Given the description of an element on the screen output the (x, y) to click on. 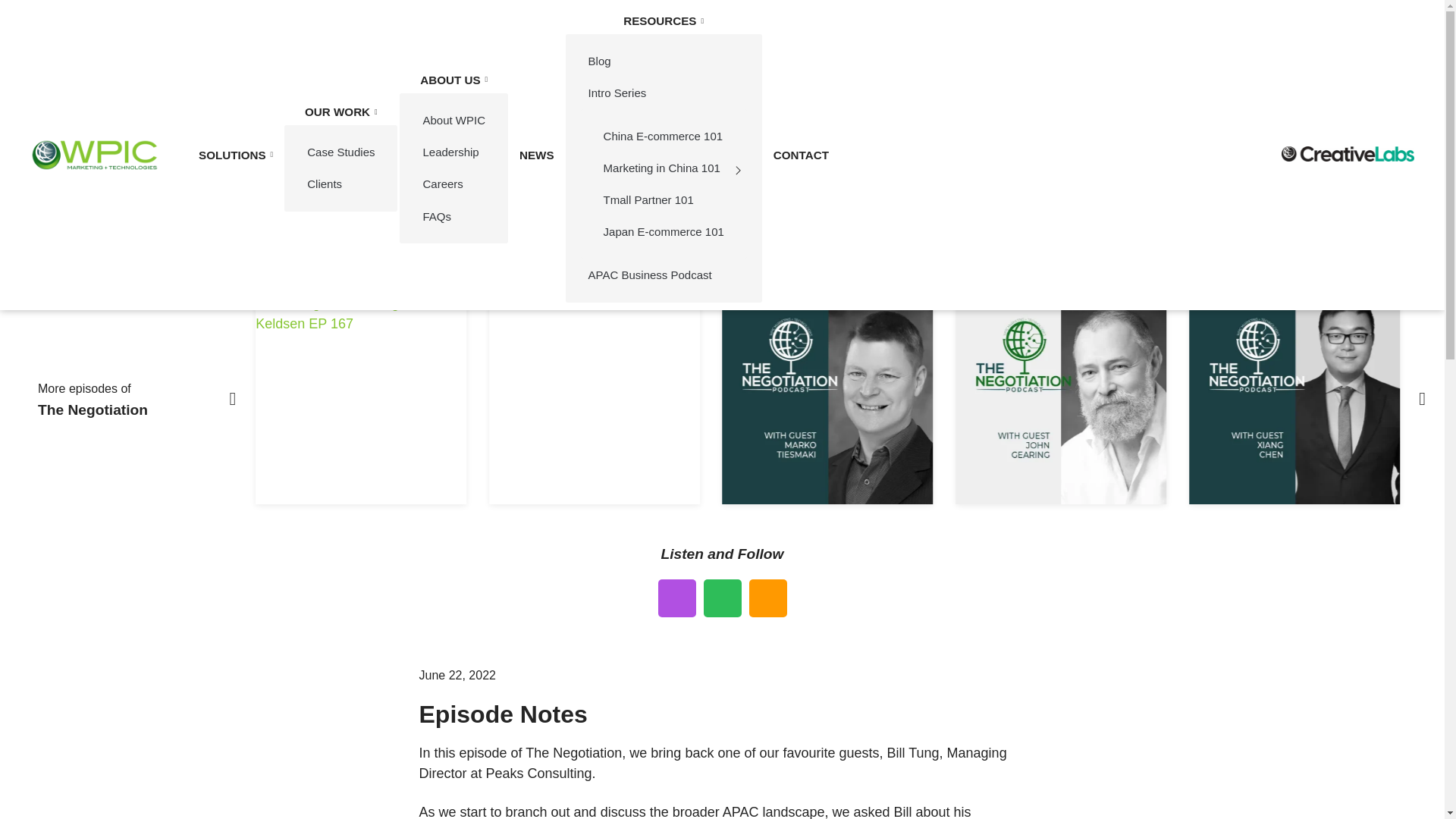
Clients (340, 183)
Intro Series (663, 92)
APAC Business Podcast (663, 274)
Play  (192, 232)
NEWS (537, 154)
Careers (453, 183)
RESOURCES (663, 20)
OUR WORK (340, 111)
Blog (663, 60)
Mute (1251, 232)
Tmall Partner 101 (663, 199)
Marketing in China 101 (663, 167)
China E-commerce 101 (663, 135)
Japan E-commerce 101 (663, 231)
Leadership (453, 151)
